Given the description of an element on the screen output the (x, y) to click on. 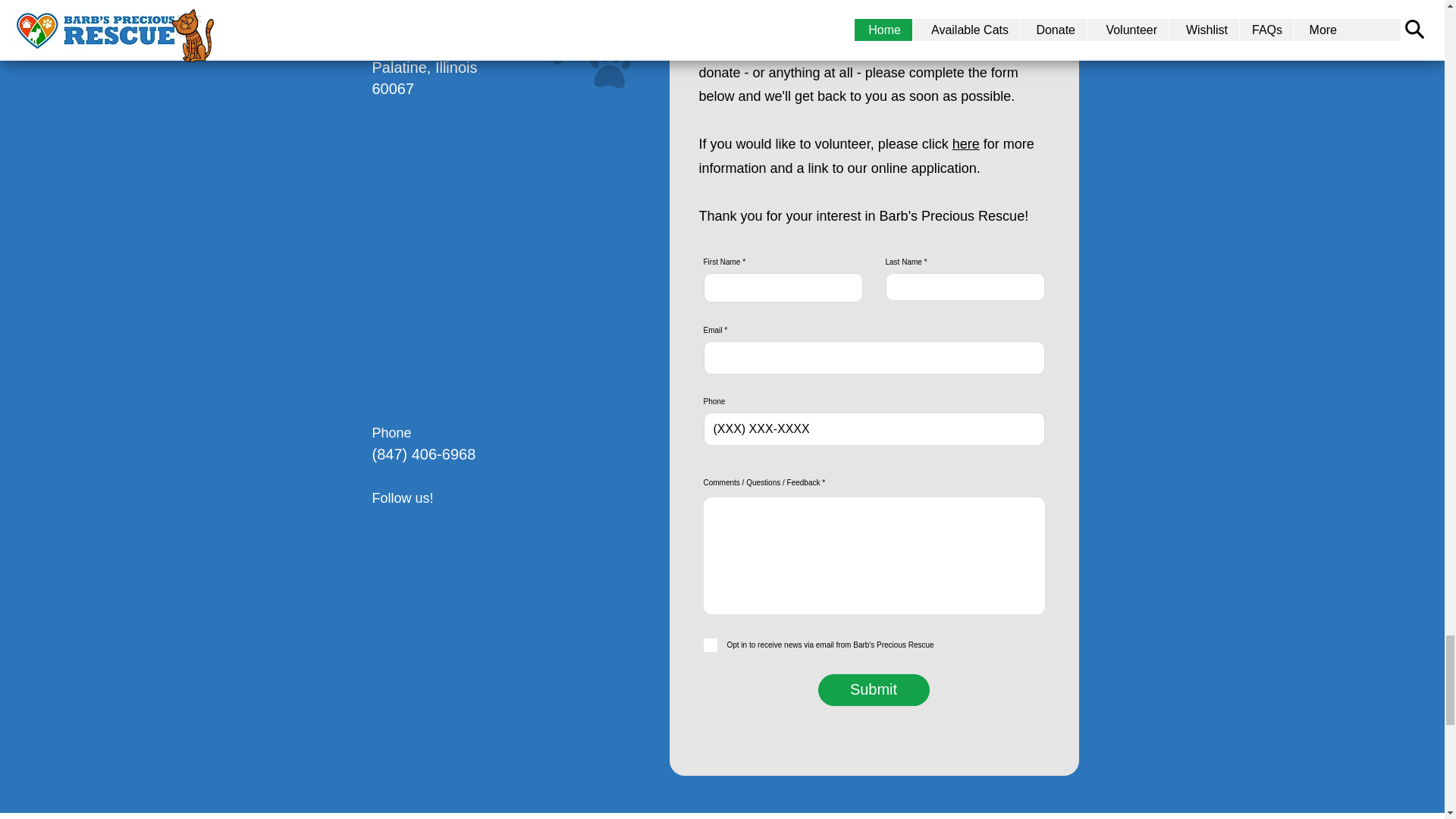
Google Maps (510, 260)
Submit (872, 689)
here (965, 143)
